Given the description of an element on the screen output the (x, y) to click on. 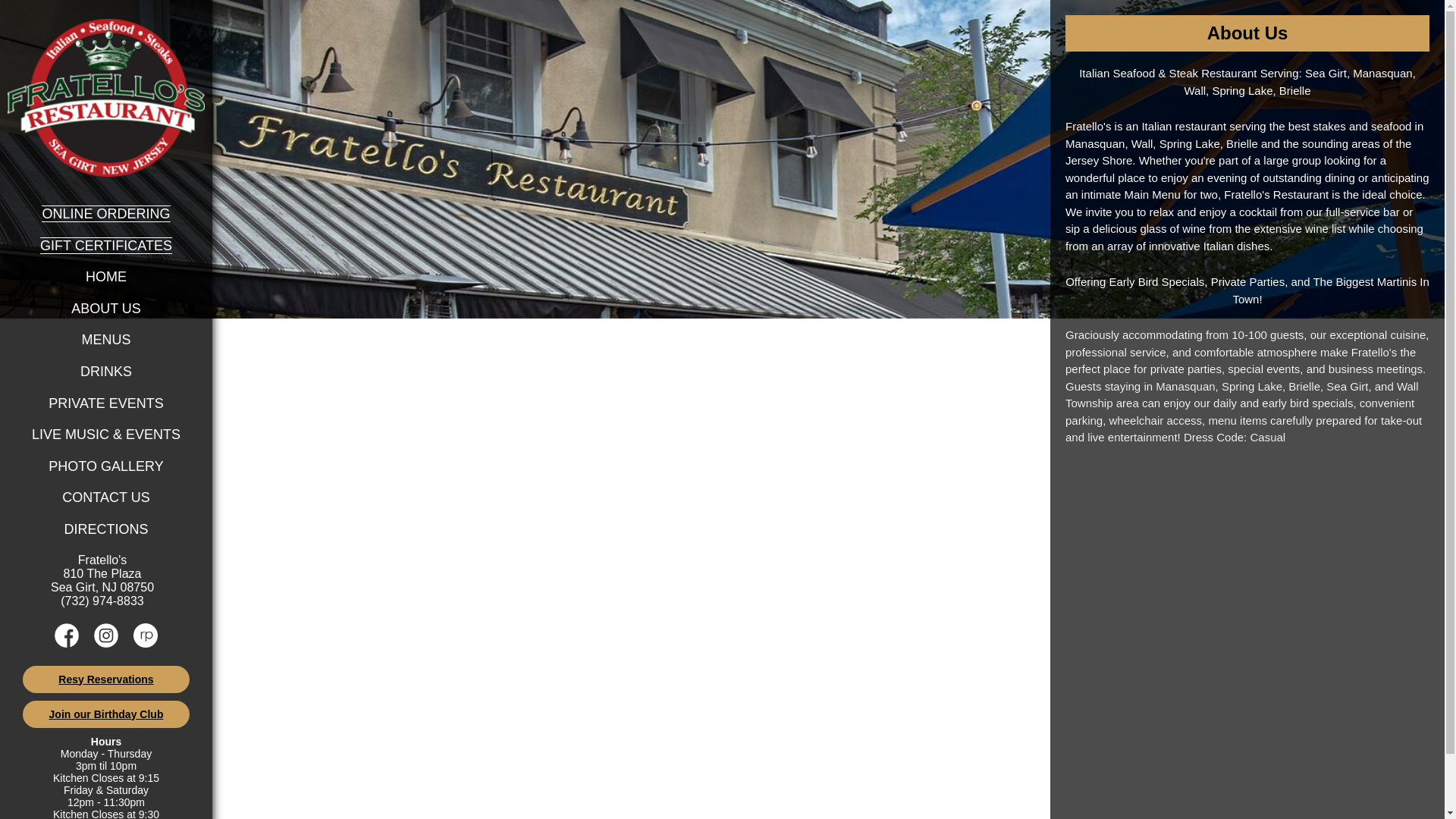
PRIVATE EVENTS (105, 403)
ONLINE ORDERING (106, 213)
Visit Our Facebook Page (66, 643)
CONTACT US (105, 497)
MENUS (106, 339)
DIRECTIONS (106, 529)
DRINKS (106, 371)
HOME (105, 276)
Join our Birthday Club (106, 714)
ABOUT US (106, 308)
